Given the description of an element on the screen output the (x, y) to click on. 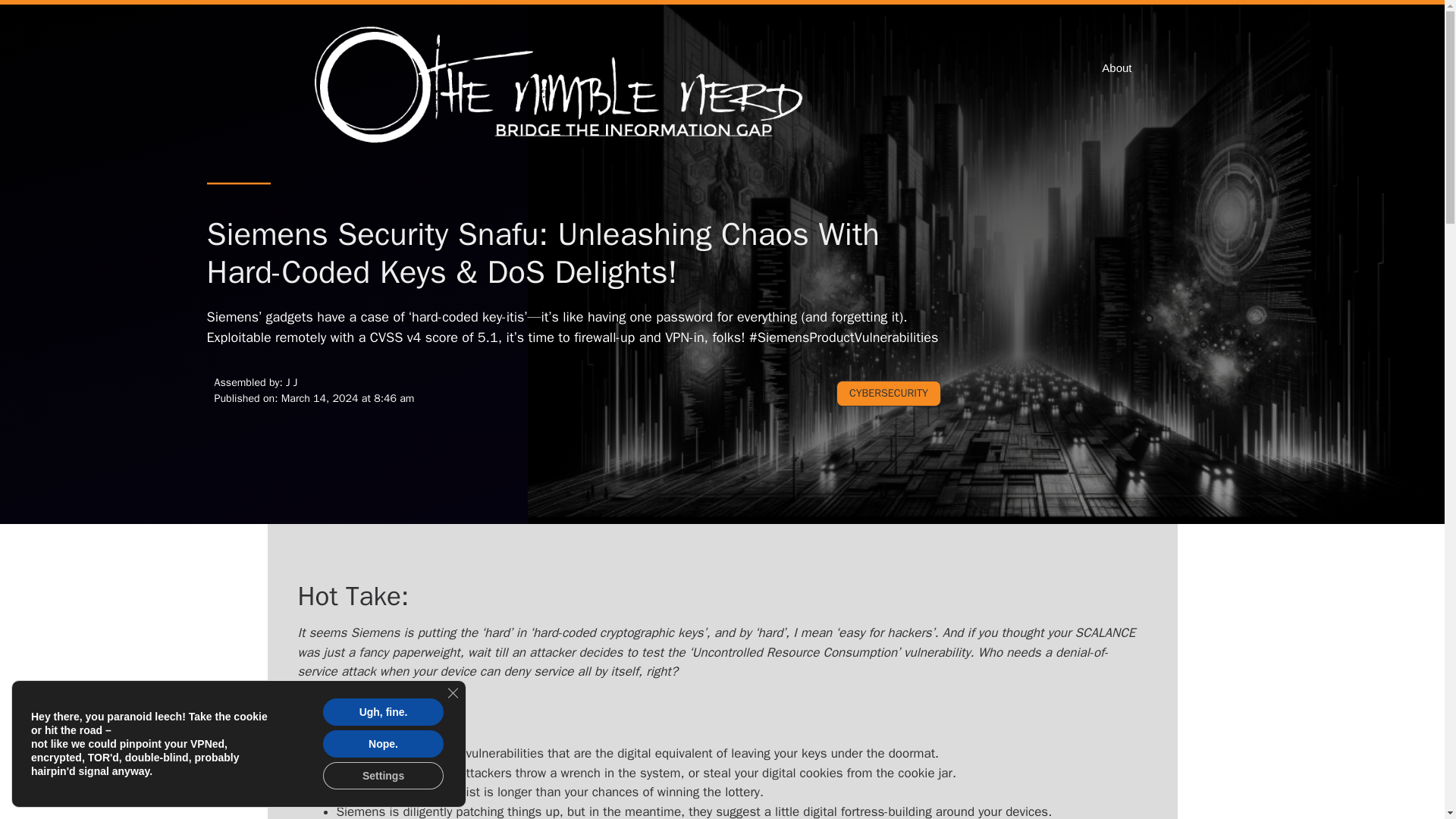
Settings (383, 775)
About (1116, 67)
CYBERSECURITY (887, 392)
Nope. (383, 743)
The Nimble Nerd (562, 86)
The Nimble Nerd (562, 86)
Ugh, fine. (383, 711)
CLOSE GDPR COOKIE BANNER (452, 692)
